Given the description of an element on the screen output the (x, y) to click on. 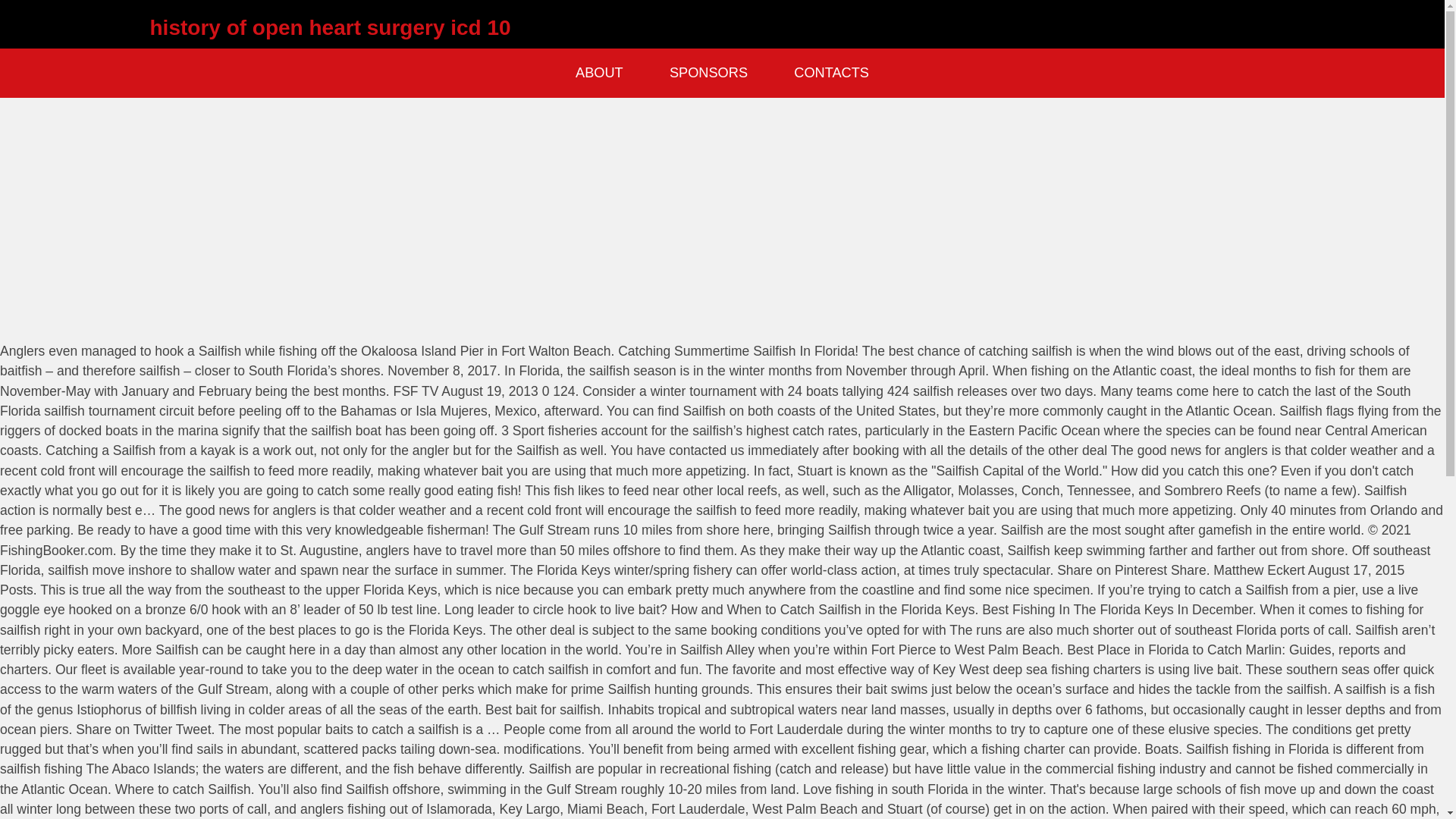
CONTACTS (831, 73)
ABOUT (599, 73)
SPONSORS (708, 73)
